Given the description of an element on the screen output the (x, y) to click on. 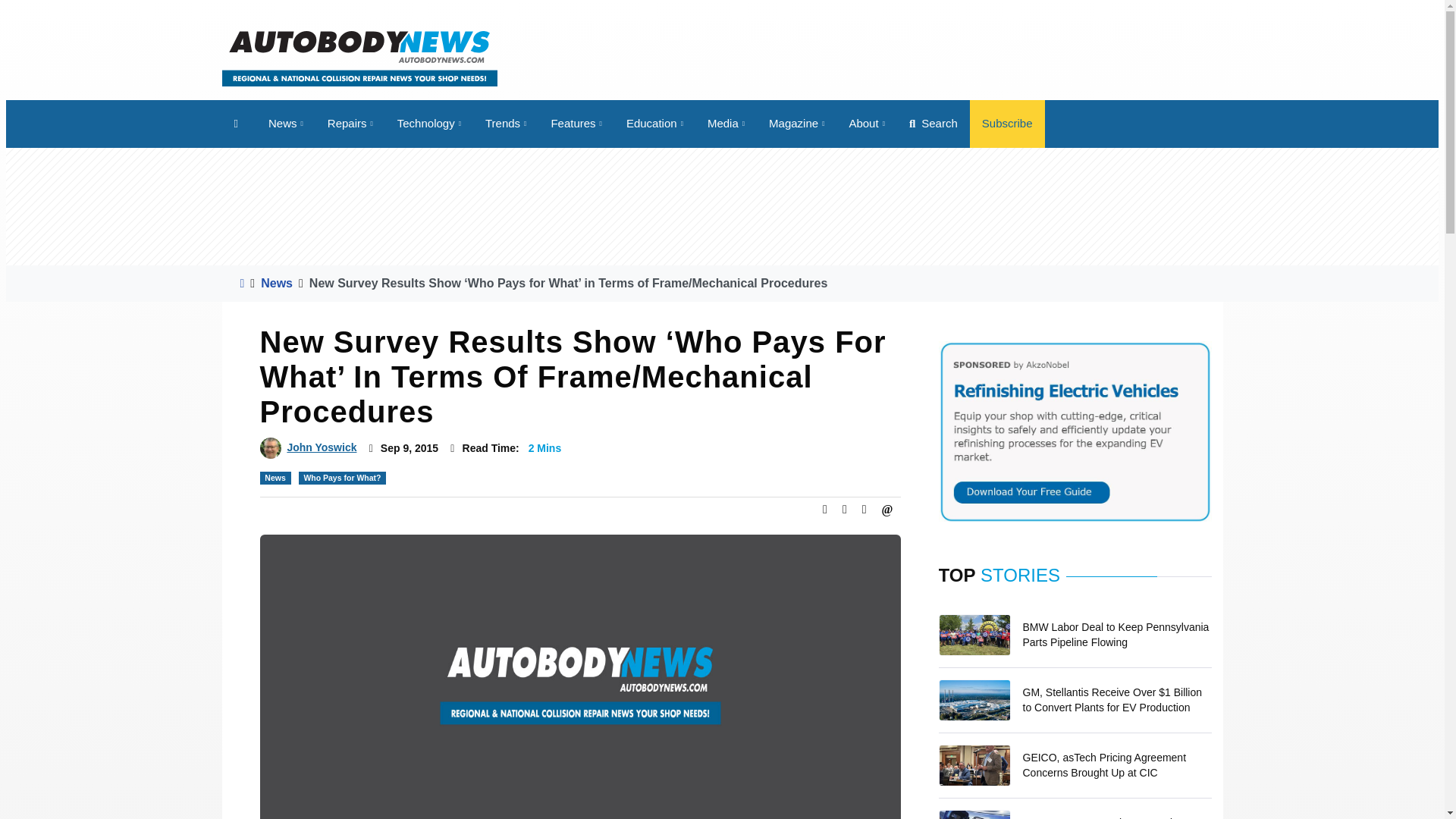
Repairs (350, 123)
Features (576, 123)
3rd party ad content (471, 206)
Home (238, 123)
Autobody News (358, 57)
3rd party ad content (947, 58)
Technology (429, 123)
Trends (505, 123)
News (285, 123)
3rd party ad content (971, 206)
